Given the description of an element on the screen output the (x, y) to click on. 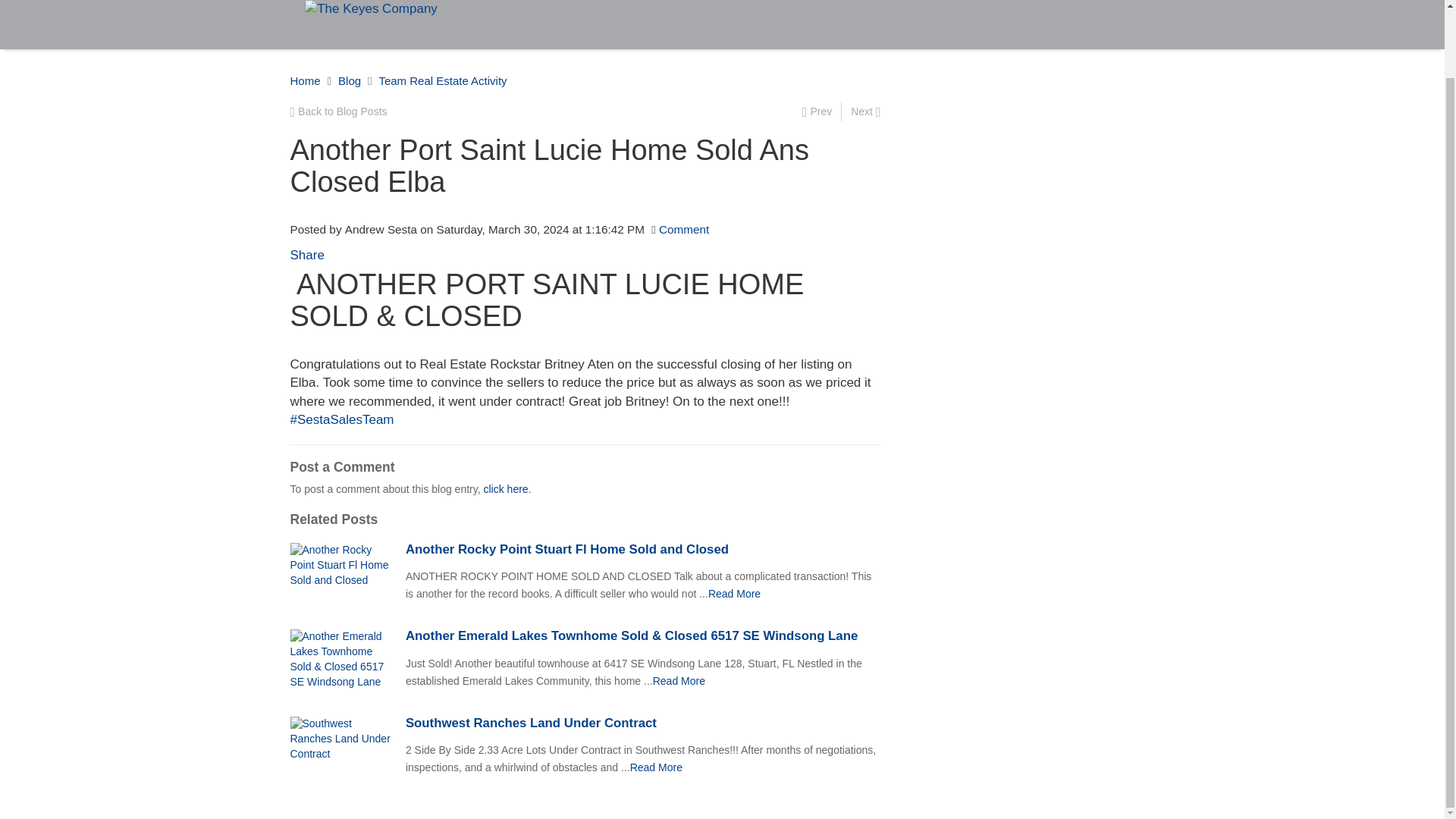
Another Rocky Point Stuart Fl Home Sold and Closed (643, 549)
Southwest Ranches Land Under Contract (643, 723)
Team Real Estate Activity (442, 80)
Blog (349, 80)
Another Port Saint Lucie Home Sold Ans Closed Elba (678, 680)
Another Port Saint Lucie Home Sold Ans Closed Elba (733, 593)
Home (304, 80)
Another Port Saint Lucie Home Sold Ans Closed Elba (656, 767)
